Given the description of an element on the screen output the (x, y) to click on. 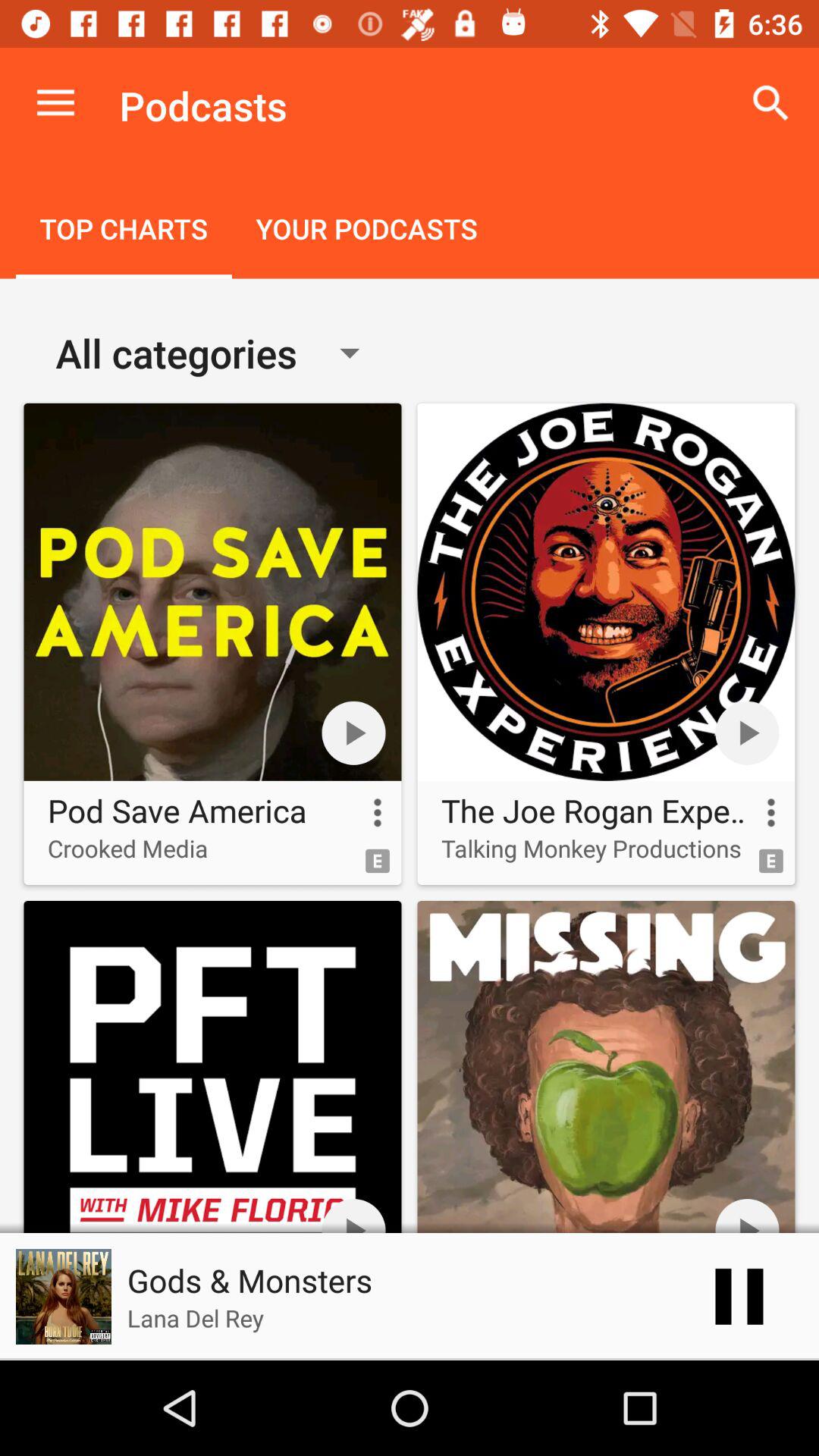
tap icon to the right of the top charts item (366, 230)
